Given the description of an element on the screen output the (x, y) to click on. 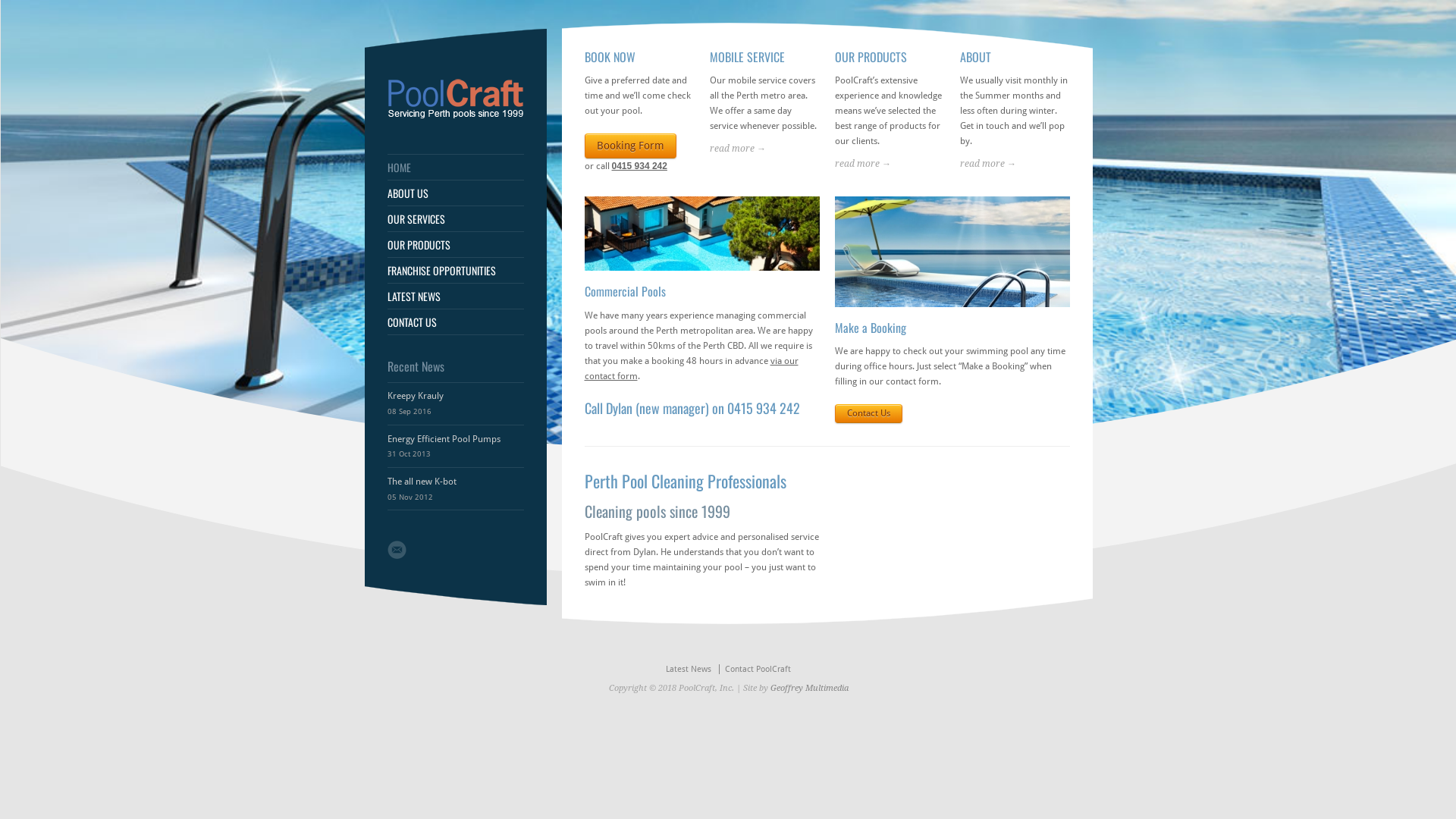
LATEST NEWS Element type: text (454, 296)
CONTACT US Element type: text (454, 321)
ABOUT US Element type: text (454, 193)
ABOUT Element type: text (975, 56)
Contact Us Element type: text (867, 413)
Contact PoolCraft Element type: text (757, 669)
FRANCHISE OPPORTUNITIES Element type: text (454, 270)
OUR PRODUCTS Element type: text (870, 56)
Kreepy Krauly Element type: text (414, 395)
HOME Element type: text (454, 167)
0415 934 242 Element type: text (638, 165)
Perth Swimming Pool Maintenance | PoolCraft Element type: hover (454, 115)
0415 934 242 Element type: text (762, 407)
Booking Form Element type: text (629, 145)
Latest News Element type: text (688, 669)
OUR SERVICES Element type: text (454, 218)
The all new K-bot Element type: text (420, 481)
Energy Efficient Pool Pumps Element type: text (442, 438)
OUR PRODUCTS Element type: text (454, 244)
MOBILE SERVICE Element type: text (746, 56)
via our contact form Element type: text (690, 368)
Geoffrey Multimedia Element type: text (809, 688)
